Given the description of an element on the screen output the (x, y) to click on. 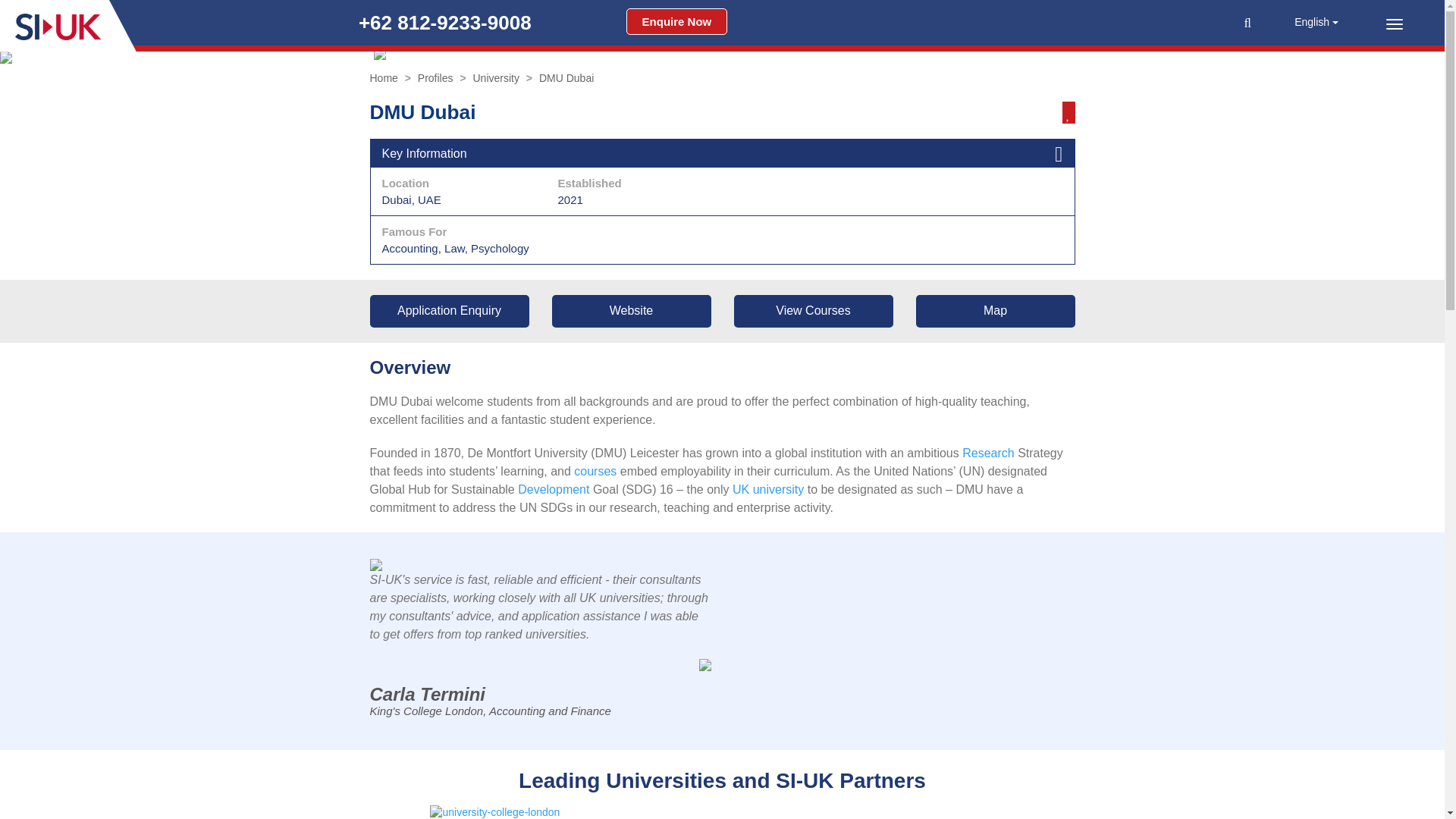
Enquire Now (677, 21)
